Given the description of an element on the screen output the (x, y) to click on. 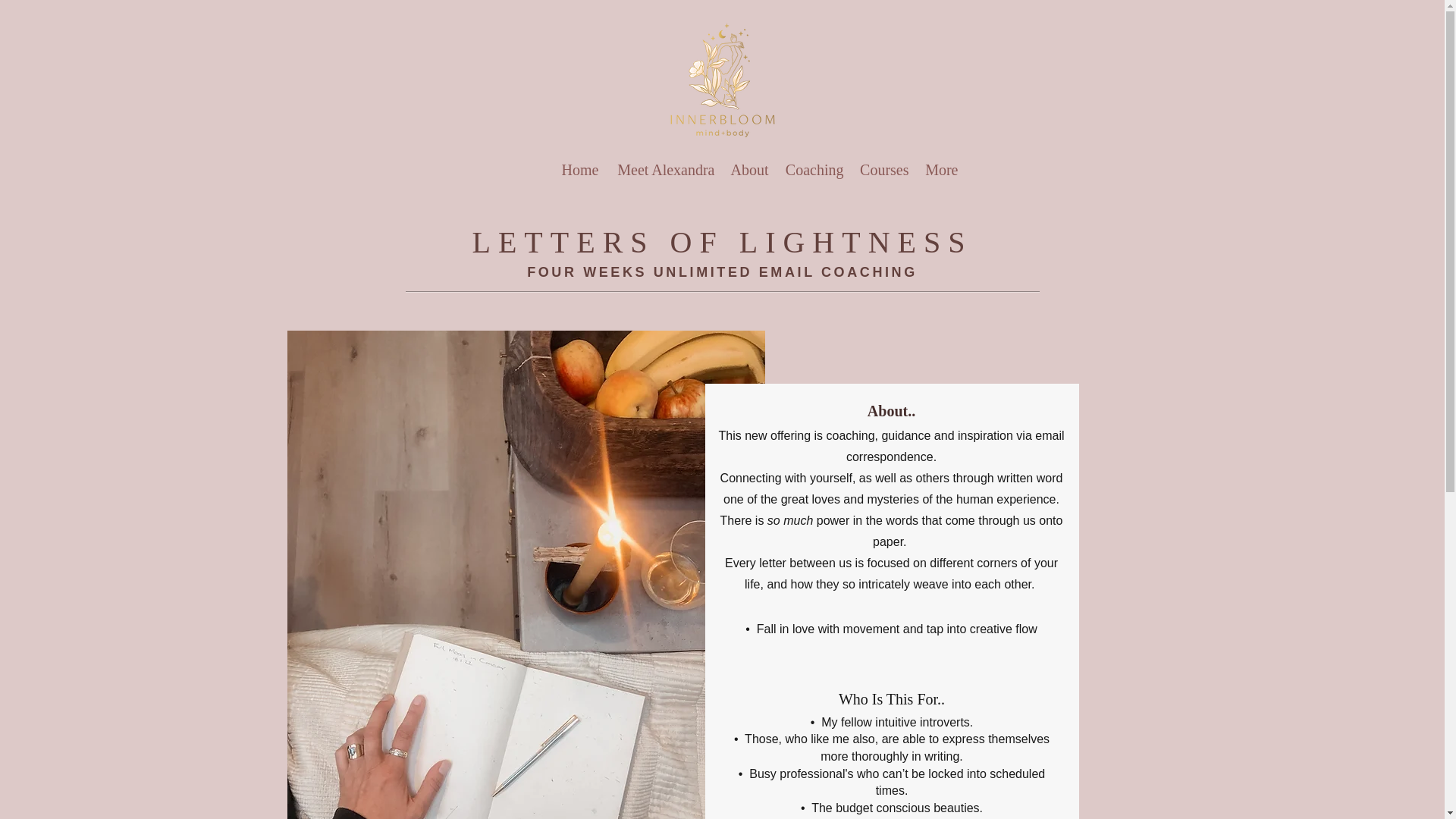
Coaching (813, 170)
About (749, 170)
Courses (882, 170)
Meet Alexandra (664, 170)
Home (580, 170)
